Given the description of an element on the screen output the (x, y) to click on. 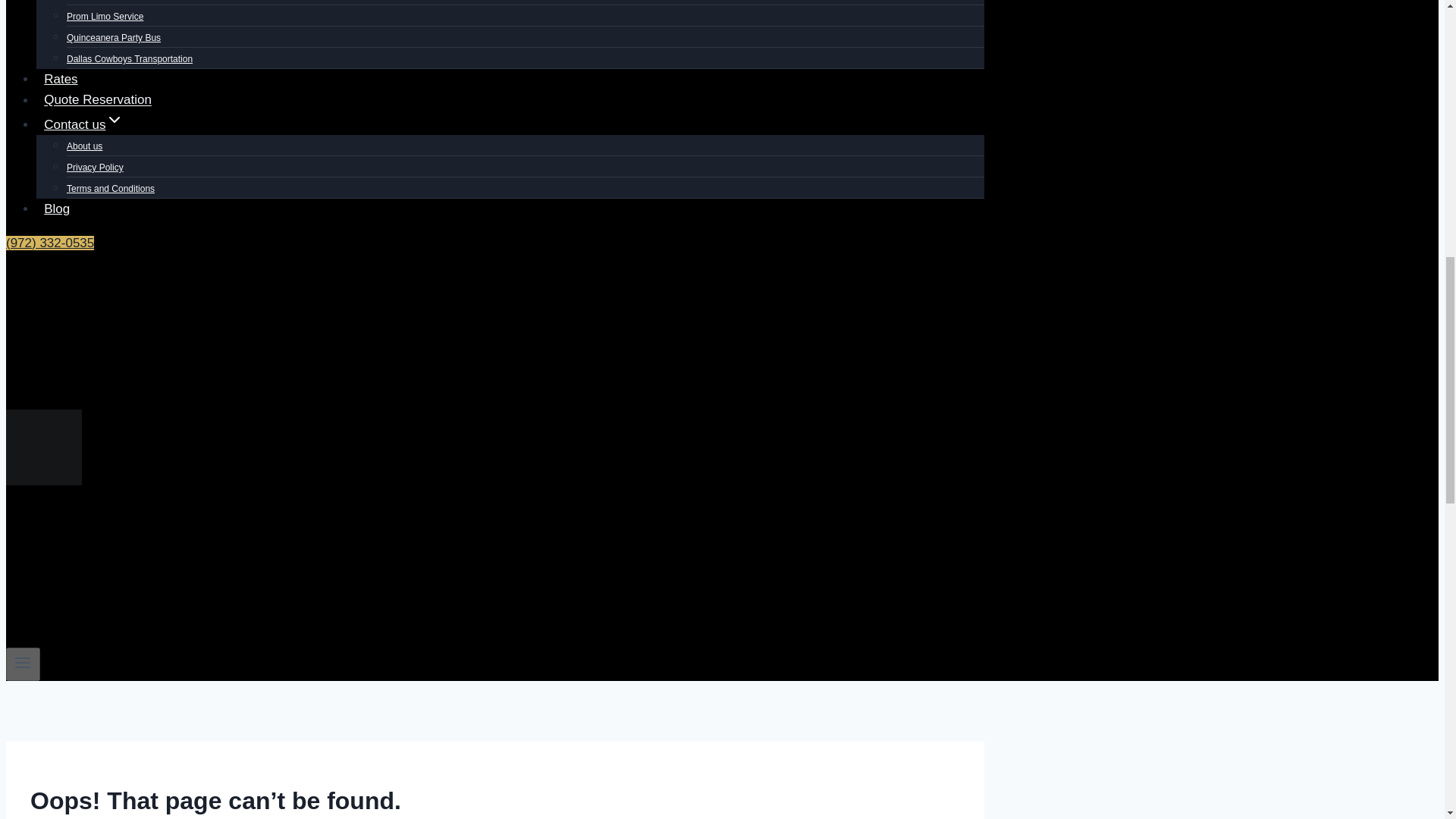
Privacy Policy (94, 167)
Rates (60, 79)
Terms and Conditions (110, 188)
Expand (113, 119)
Quote Reservation (97, 99)
Toggle Menu (22, 663)
About us (83, 145)
Limo Service For Graduation (124, 4)
Quinceanera Party Bus (113, 37)
Dallas Cowboys Transportation (129, 59)
